Given the description of an element on the screen output the (x, y) to click on. 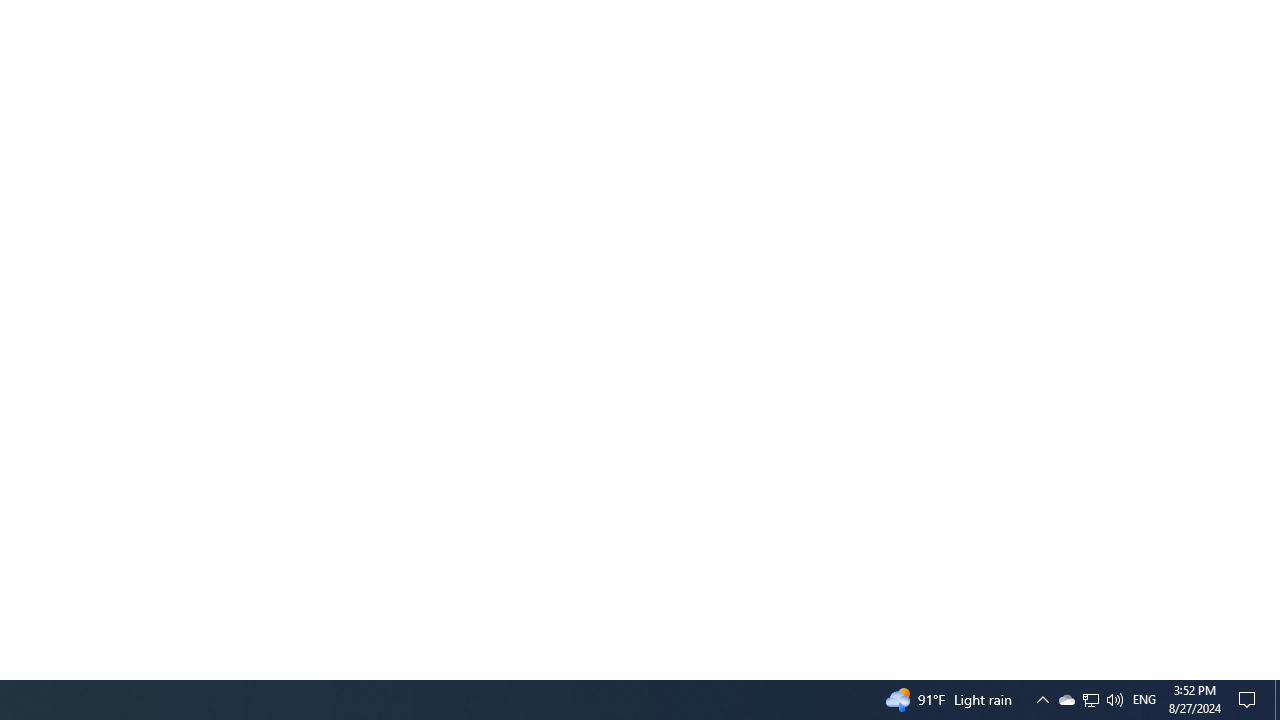
Tray Input Indicator - English (United States) (1144, 699)
Show desktop (1091, 699)
Notification Chevron (1277, 699)
User Promoted Notification Area (1042, 699)
Vertical Small Increase (1090, 699)
Q2790: 100% (1272, 671)
Action Center, No new notifications (1114, 699)
